Given the description of an element on the screen output the (x, y) to click on. 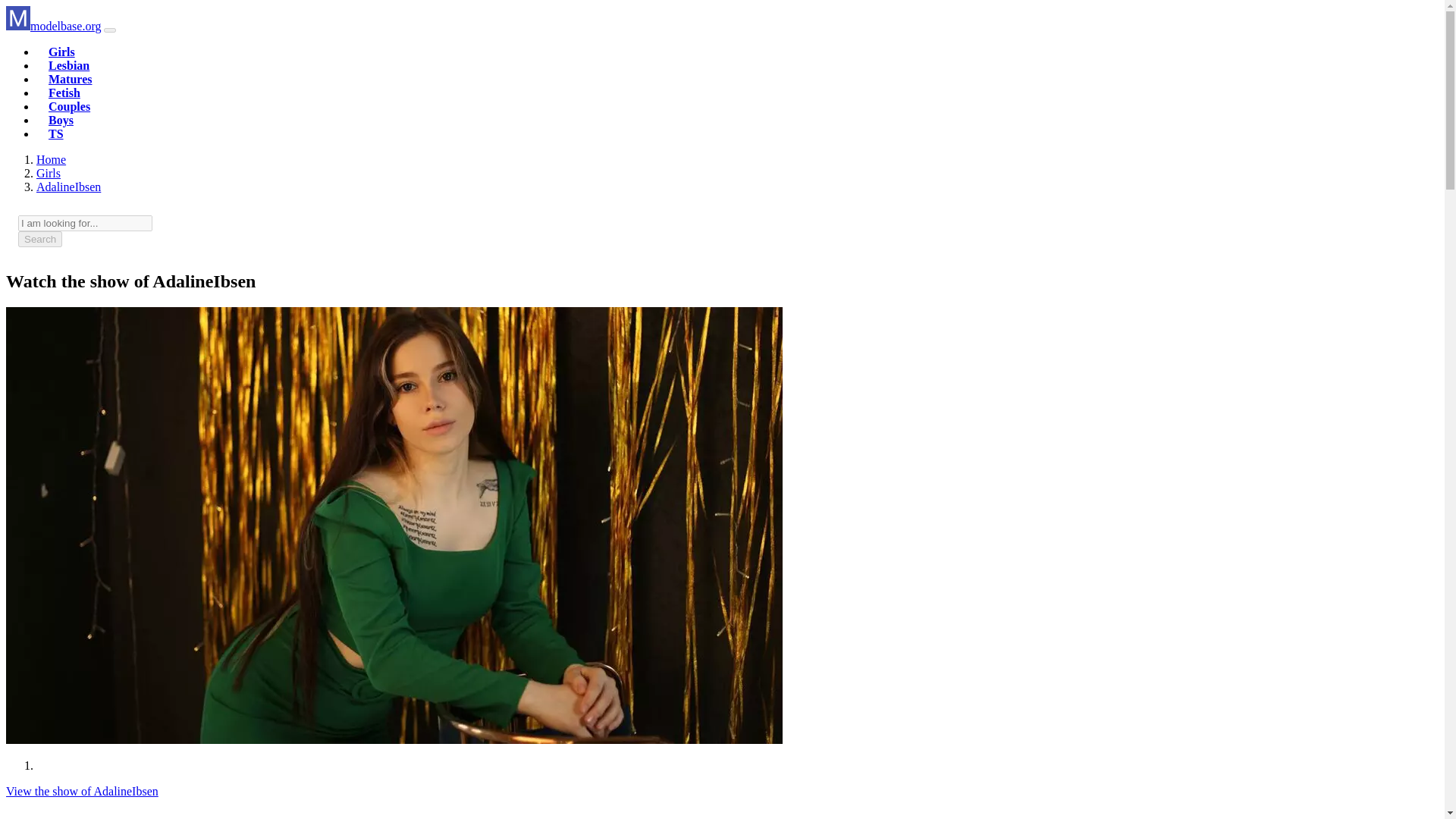
modelbase.org (52, 25)
modelbase.org (52, 25)
TS (56, 133)
Girls (61, 51)
Boys (61, 119)
Matures (69, 78)
Couples (69, 106)
Girls (61, 51)
Girls (48, 173)
AdalineIbsen (68, 186)
Fetish (64, 92)
Boys (61, 119)
Lesbian (68, 65)
Search (39, 238)
modelbase.org (50, 159)
